Given the description of an element on the screen output the (x, y) to click on. 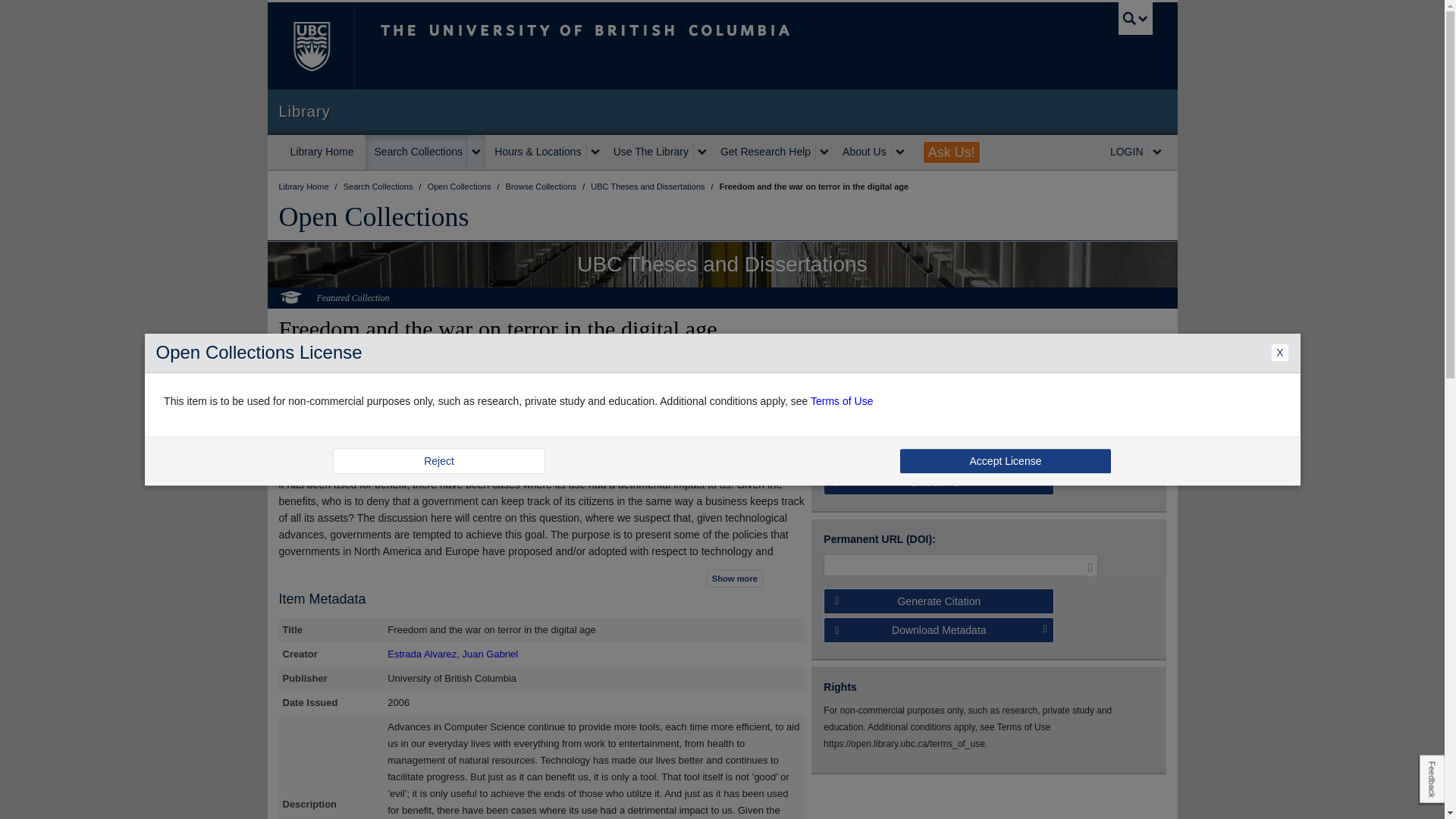
The University of British Columbia (635, 45)
The University of British Columbia (309, 45)
Browse Collections (542, 185)
Search Collections (416, 151)
Search Collections (378, 185)
UBC Search (1135, 18)
Library Home (322, 151)
UBC Library (305, 185)
Open Collections (373, 216)
Open Collections (460, 185)
open file (848, 414)
Library (722, 111)
